Given the description of an element on the screen output the (x, y) to click on. 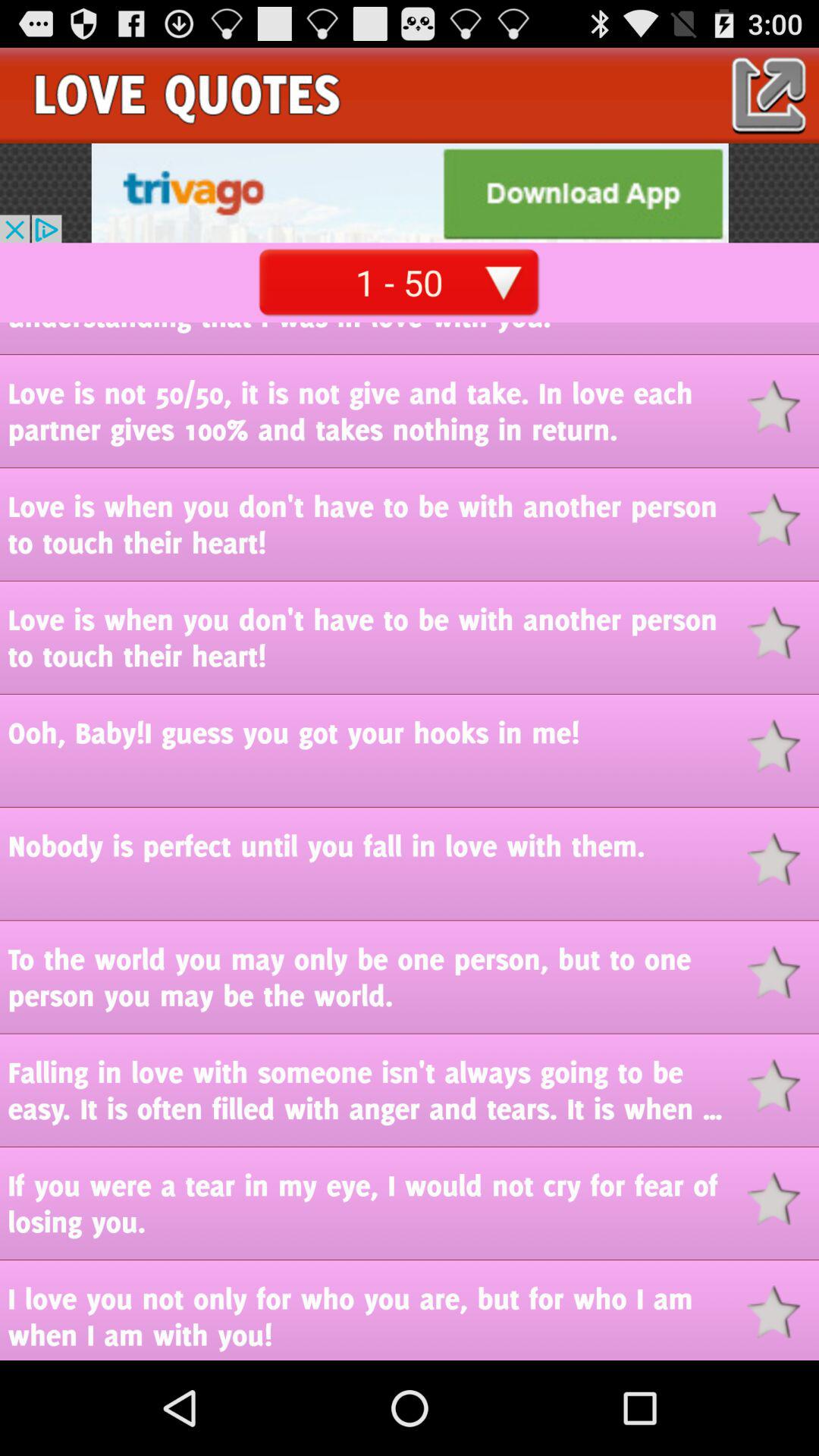
mark quote as favorite (783, 632)
